Given the description of an element on the screen output the (x, y) to click on. 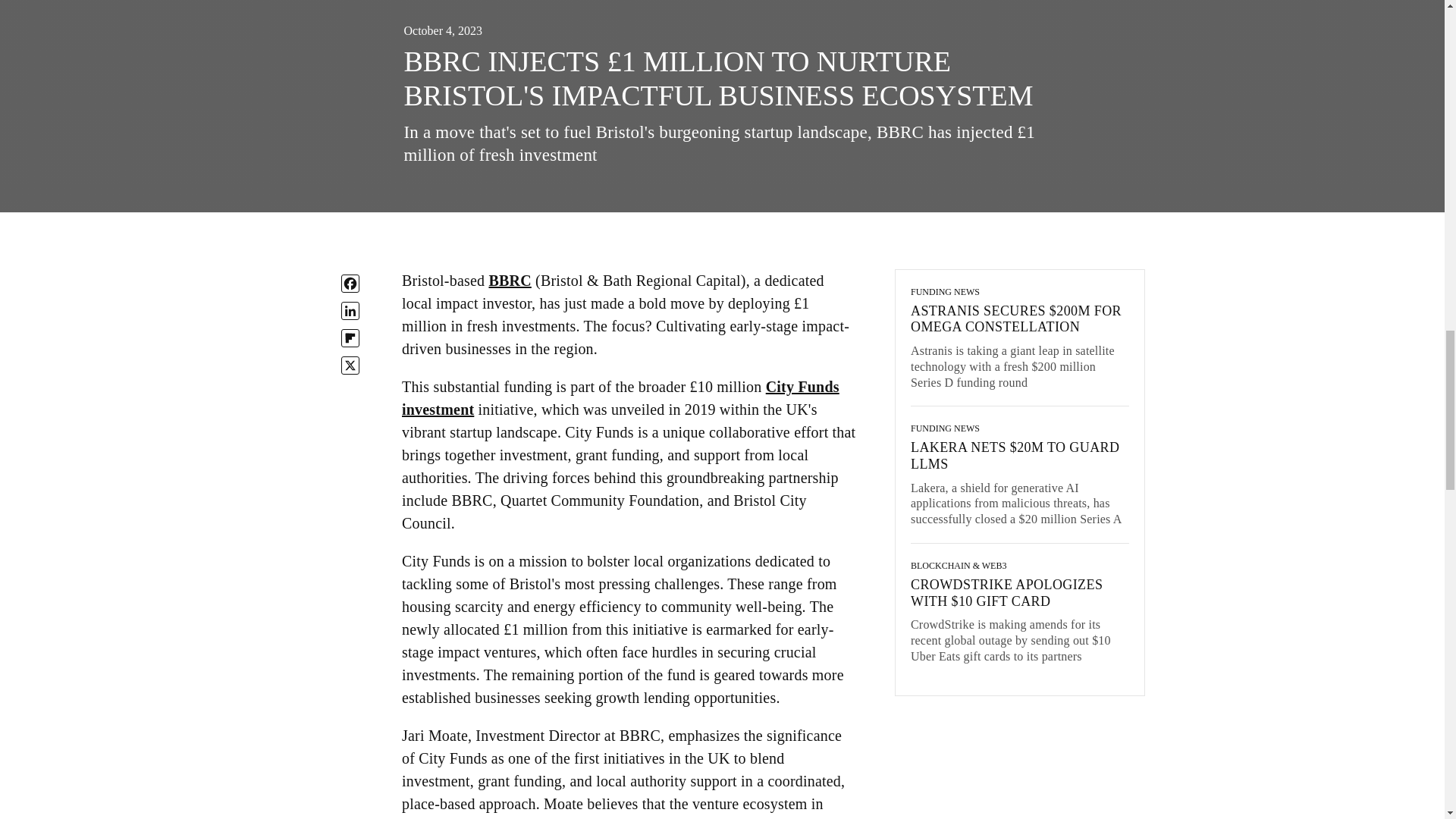
X (349, 365)
Linkedin (349, 311)
Facebook (349, 283)
Flipboard (349, 338)
